Given the description of an element on the screen output the (x, y) to click on. 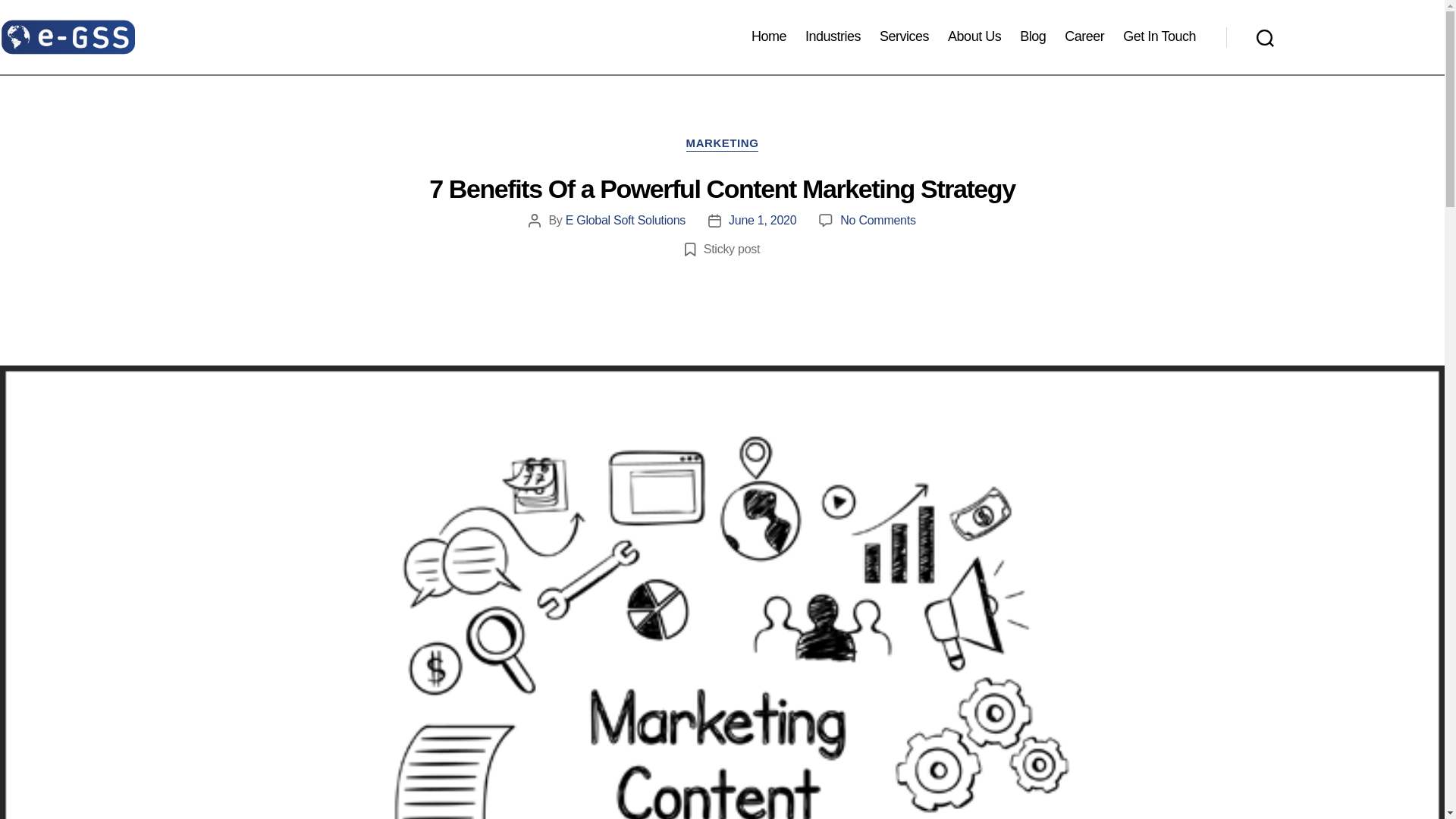
E Global Soft Solutions (625, 219)
Career (1083, 36)
Services (903, 36)
About Us (974, 36)
Home (768, 36)
June 1, 2020 (762, 219)
Get In Touch (1158, 36)
MARKETING (721, 143)
Industries (832, 36)
Blog (1032, 36)
